Given the description of an element on the screen output the (x, y) to click on. 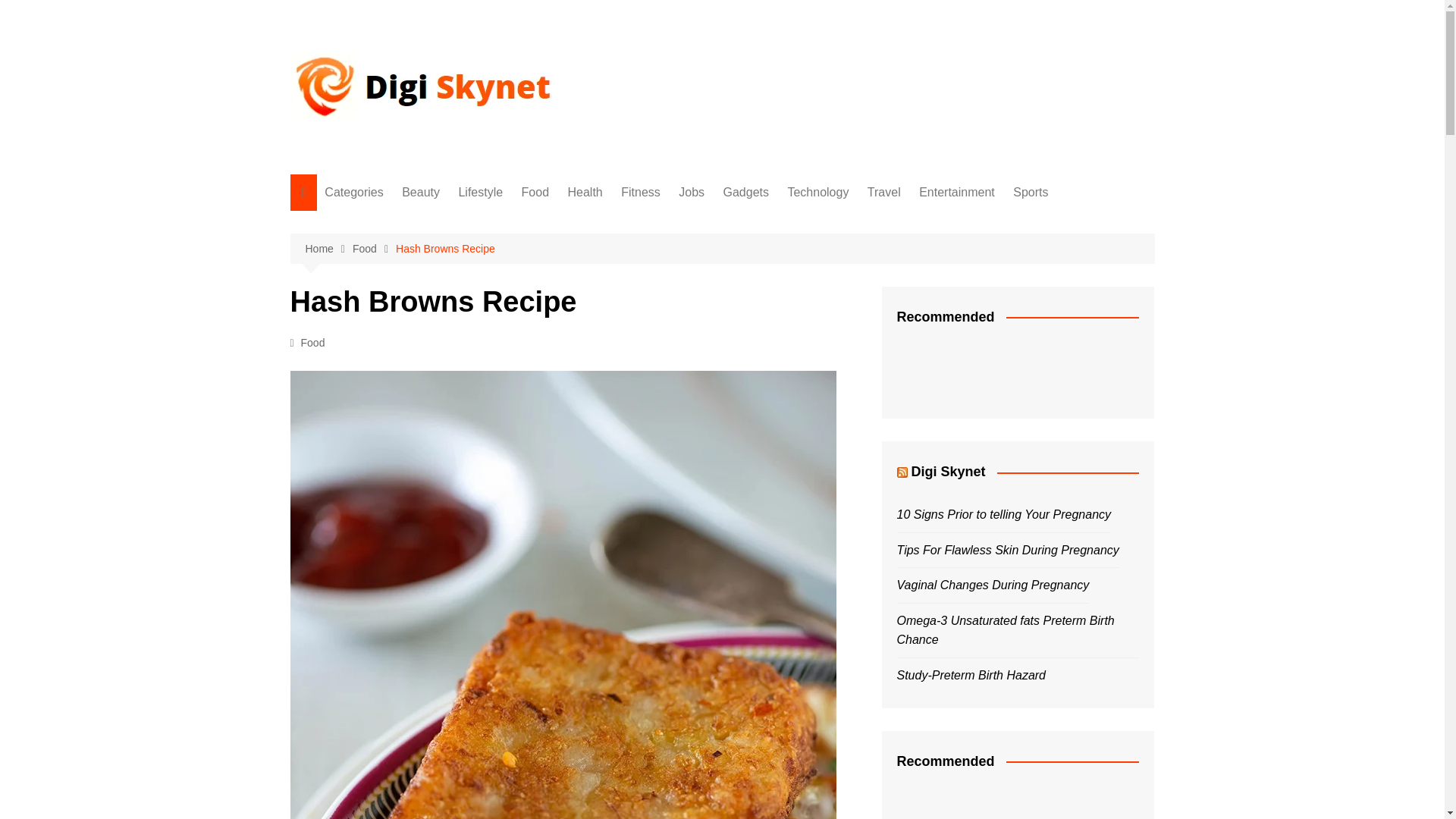
Gadgets (746, 192)
Home (328, 248)
Jobs (400, 373)
Pets (400, 523)
Technology (400, 423)
Travel (884, 192)
Beauty (400, 222)
Technology (817, 192)
Categories (353, 192)
Entertainment (957, 192)
Entertainment (400, 473)
Fitness (640, 192)
Health (400, 298)
Food (534, 192)
